Given the description of an element on the screen output the (x, y) to click on. 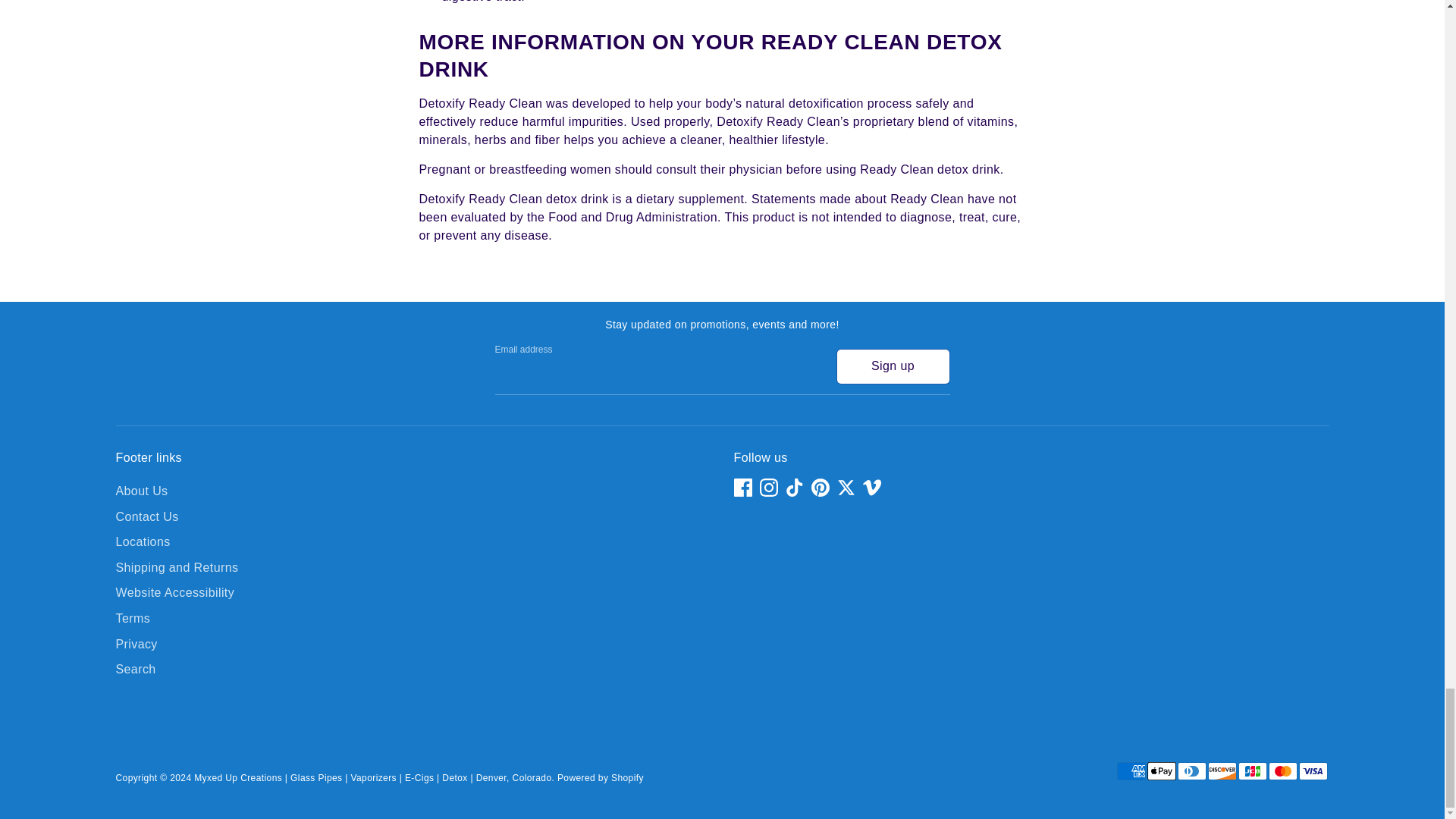
American Express (1130, 771)
